Given the description of an element on the screen output the (x, y) to click on. 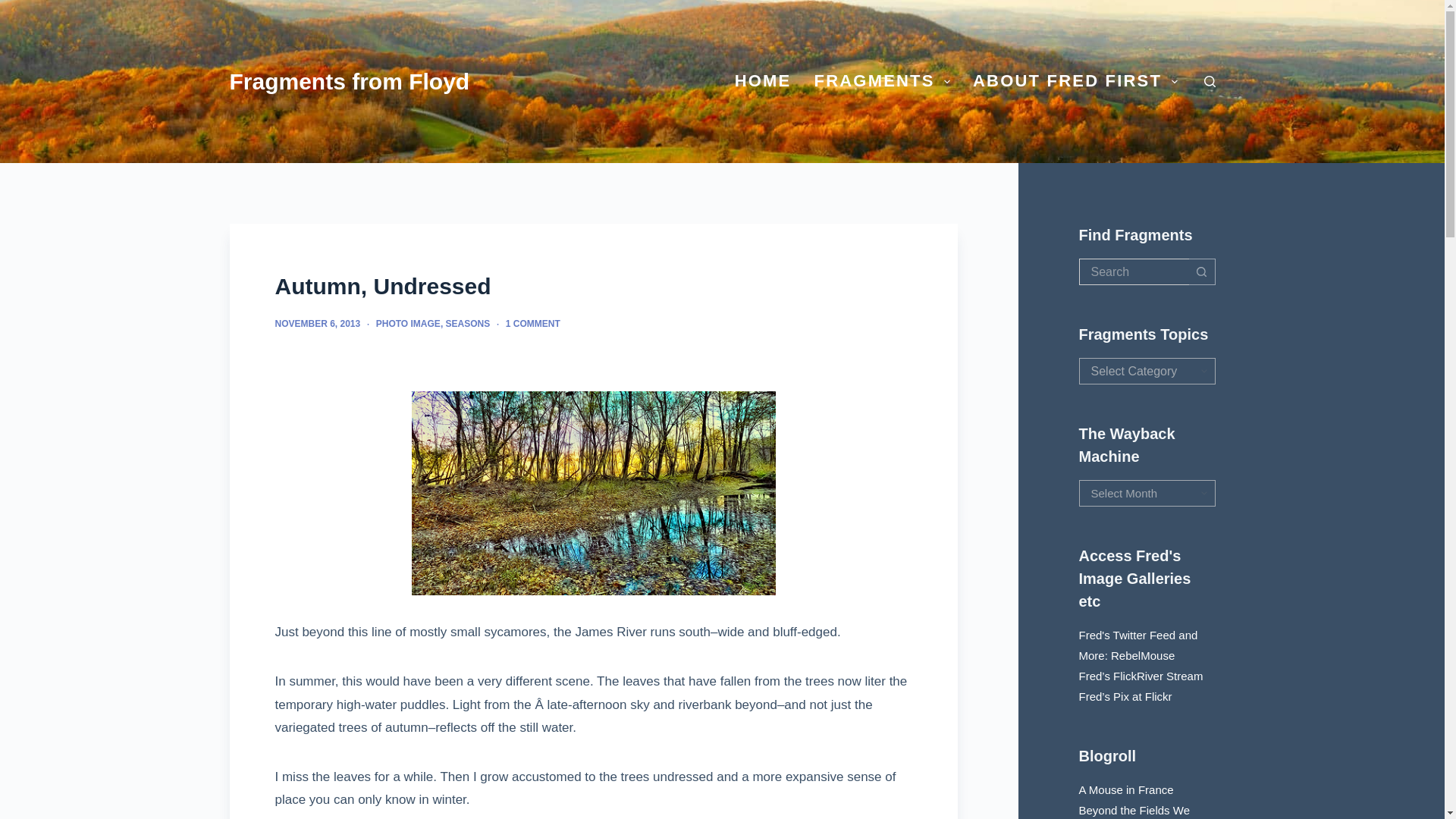
Search for... (1133, 271)
Autumn, Undressed (593, 286)
Skip to content (15, 7)
Nice slide scrolling presentation of Flickr images (1140, 675)
Bank of the James at Eagle Rock VA by fred1st, on Flickr (593, 493)
